Given the description of an element on the screen output the (x, y) to click on. 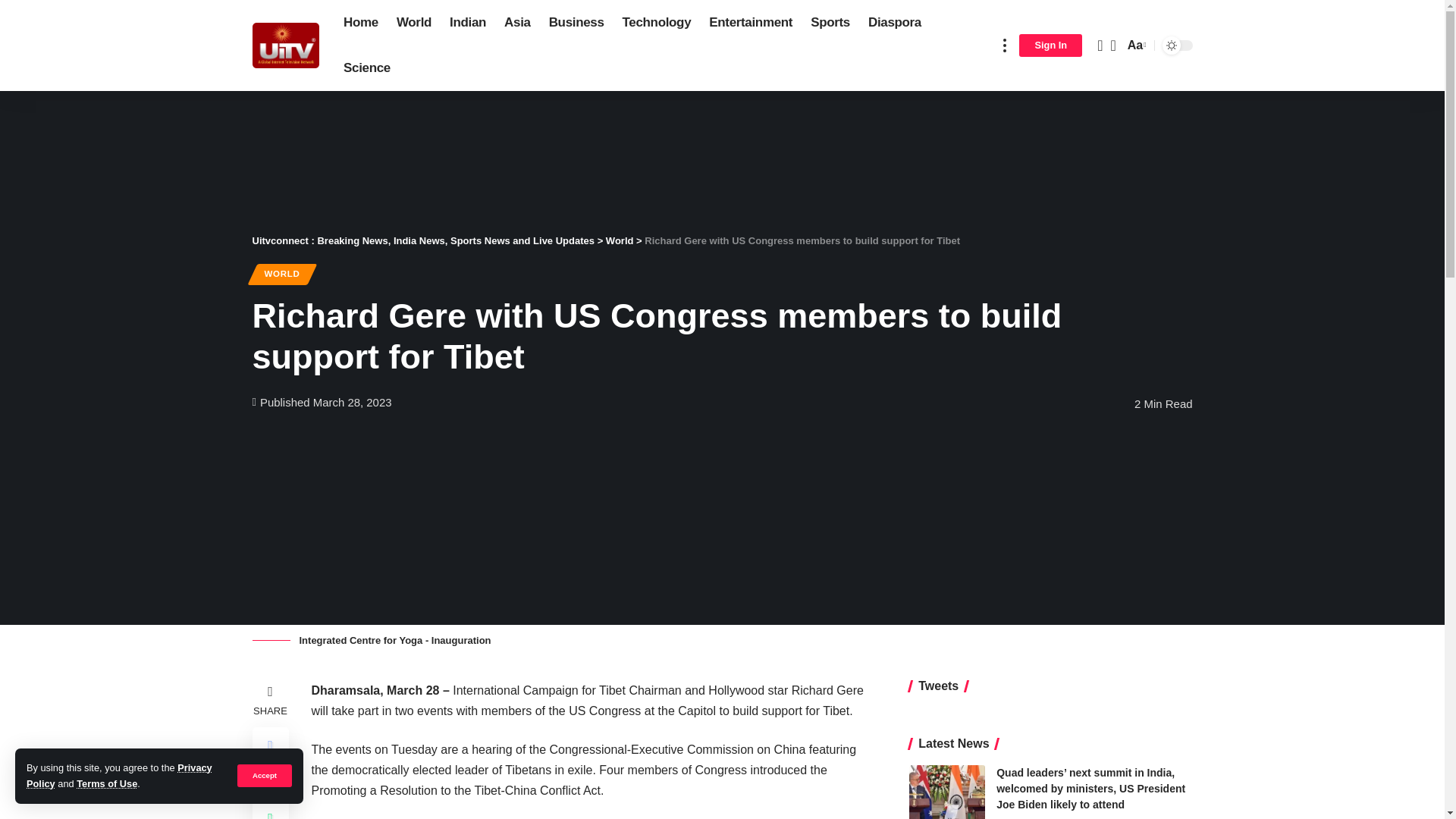
Science (366, 279)
Terms of Use (106, 783)
Entertainment (751, 233)
Asia (517, 233)
Diaspora (894, 233)
Sports (830, 233)
Privacy Policy (119, 775)
Home (360, 233)
World (414, 233)
